Given the description of an element on the screen output the (x, y) to click on. 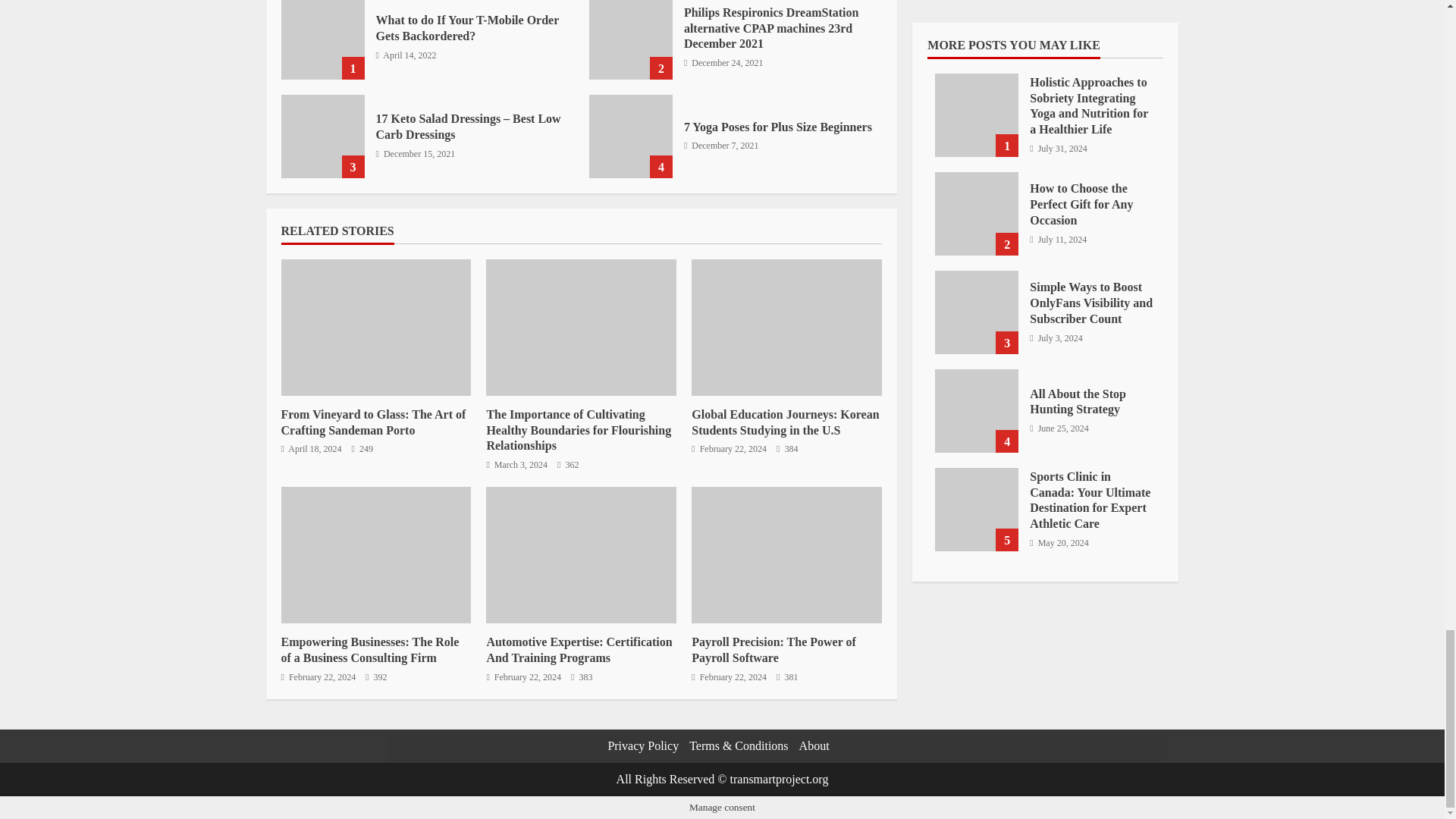
384 (786, 449)
7 Yoga Poses for Plus Size Beginners (630, 136)
7 Yoga Poses for Plus Size Beginners (778, 126)
249 (362, 449)
What to do If Your T-Mobile Order Gets Backordered? (467, 27)
362 (567, 464)
What to do If Your T-Mobile Order Gets Backordered? (322, 39)
From Vineyard to Glass: The Art of Crafting Sandeman Porto (375, 327)
From Vineyard to Glass: The Art of Crafting Sandeman Porto (373, 421)
